Given the description of an element on the screen output the (x, y) to click on. 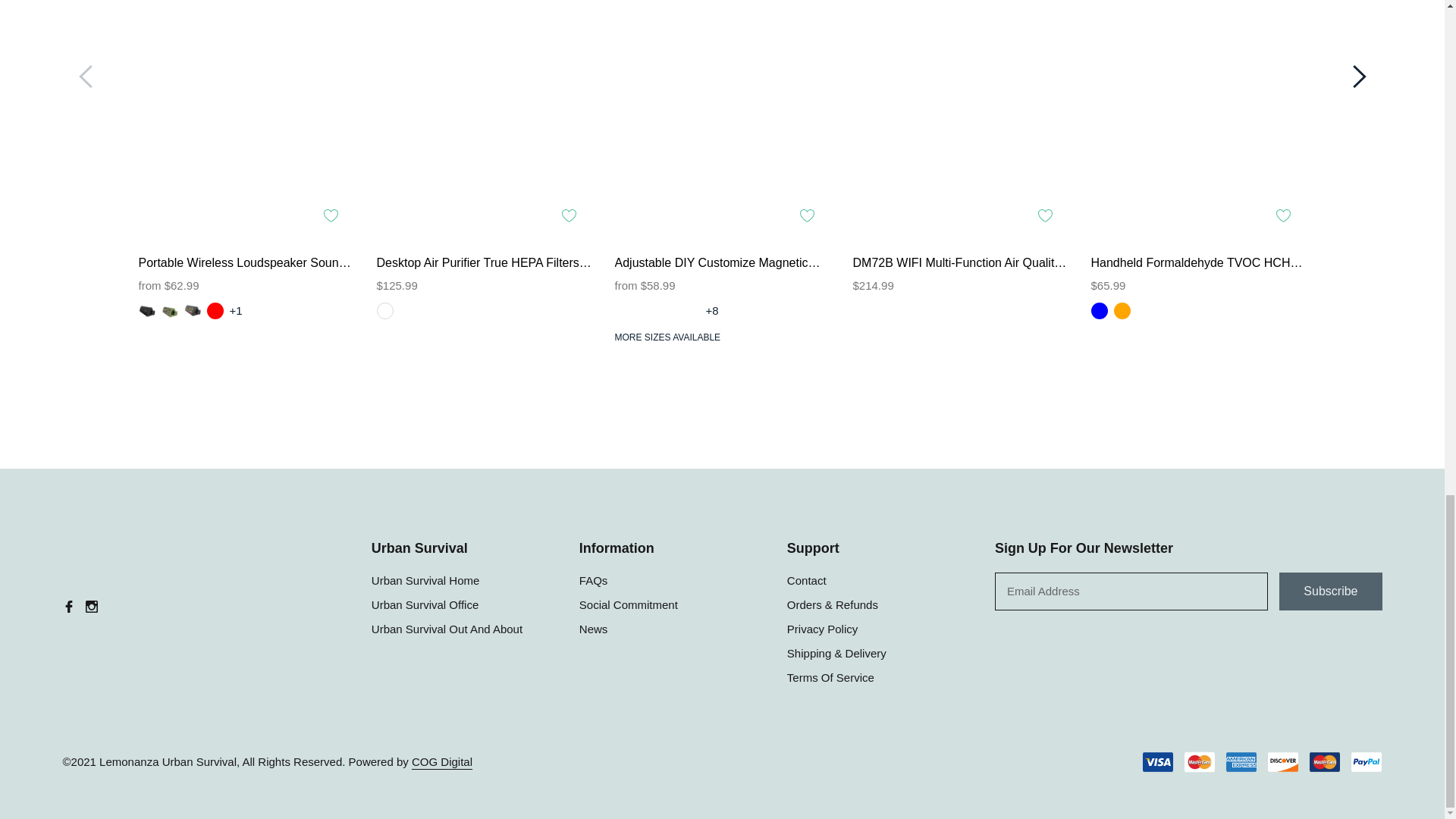
Black (146, 310)
Black-Graffiti (191, 310)
W 150cm x H 150cm (645, 310)
W 160cm x H 120cm (622, 310)
Red (214, 310)
White (384, 310)
custom made (668, 310)
Camouflage (168, 310)
W 120cm x H 120cm (690, 310)
